Given the description of an element on the screen output the (x, y) to click on. 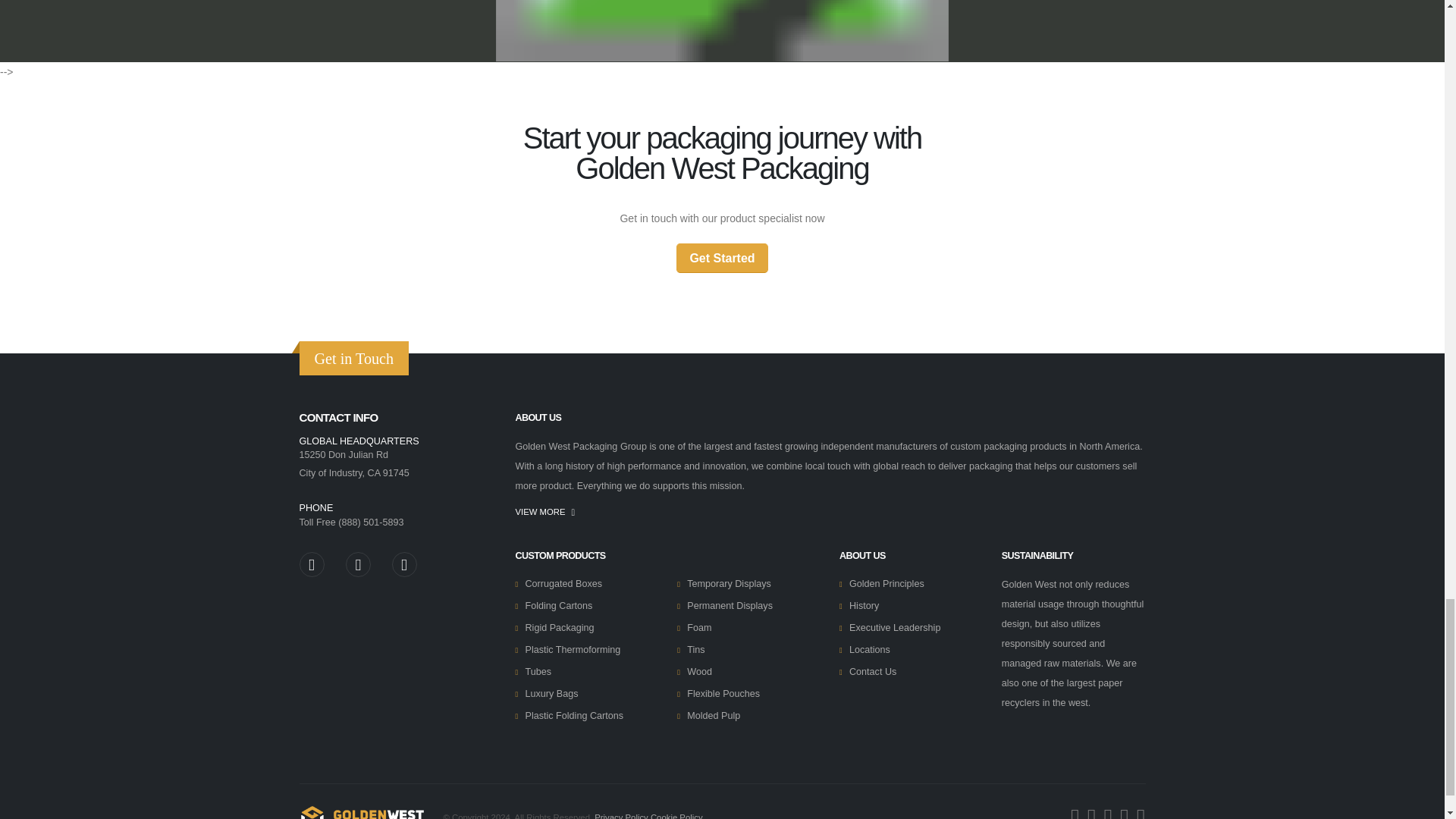
LinkedIn (358, 564)
Facebook (403, 564)
Folding Cartons (558, 605)
Corrugated Boxes (563, 583)
Plastic Thermoforming (572, 649)
Instagram (310, 564)
Rigid Packaging (559, 627)
Central South East Pin (1233, 5)
